Given the description of an element on the screen output the (x, y) to click on. 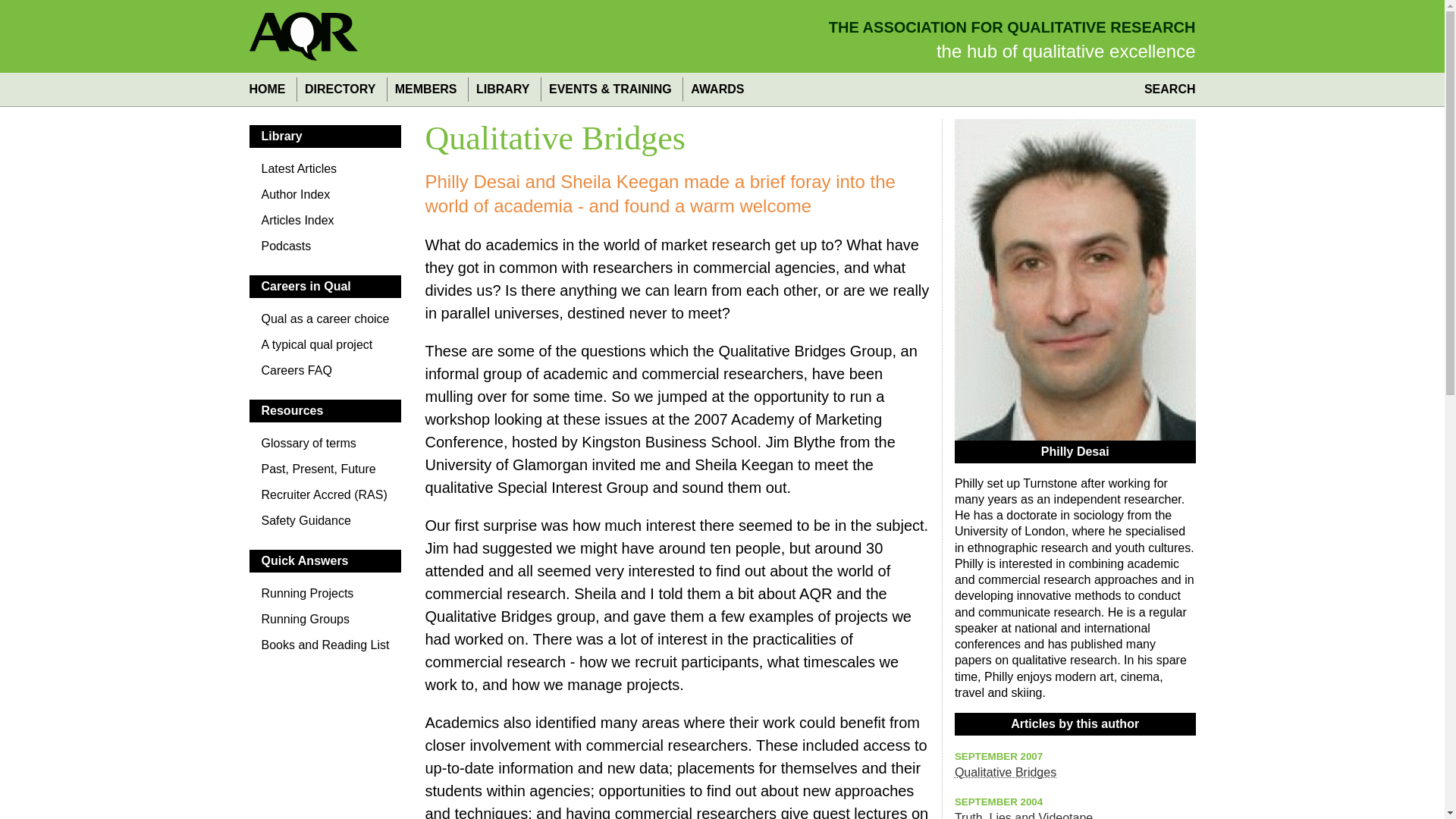
Articles Index (324, 224)
Latest Articles (324, 172)
Qualitative Bridges (1006, 771)
Running Groups (324, 623)
Running Projects (324, 597)
Glossary of terms (324, 447)
Podcasts (324, 249)
DIRECTORY (339, 88)
HOME (270, 88)
MEMBERS (425, 88)
Truth, Lies and Videotape (1024, 815)
Past, Present, Future (324, 473)
LIBRARY (502, 88)
A typical qual project (324, 348)
Author Index (324, 198)
